Given the description of an element on the screen output the (x, y) to click on. 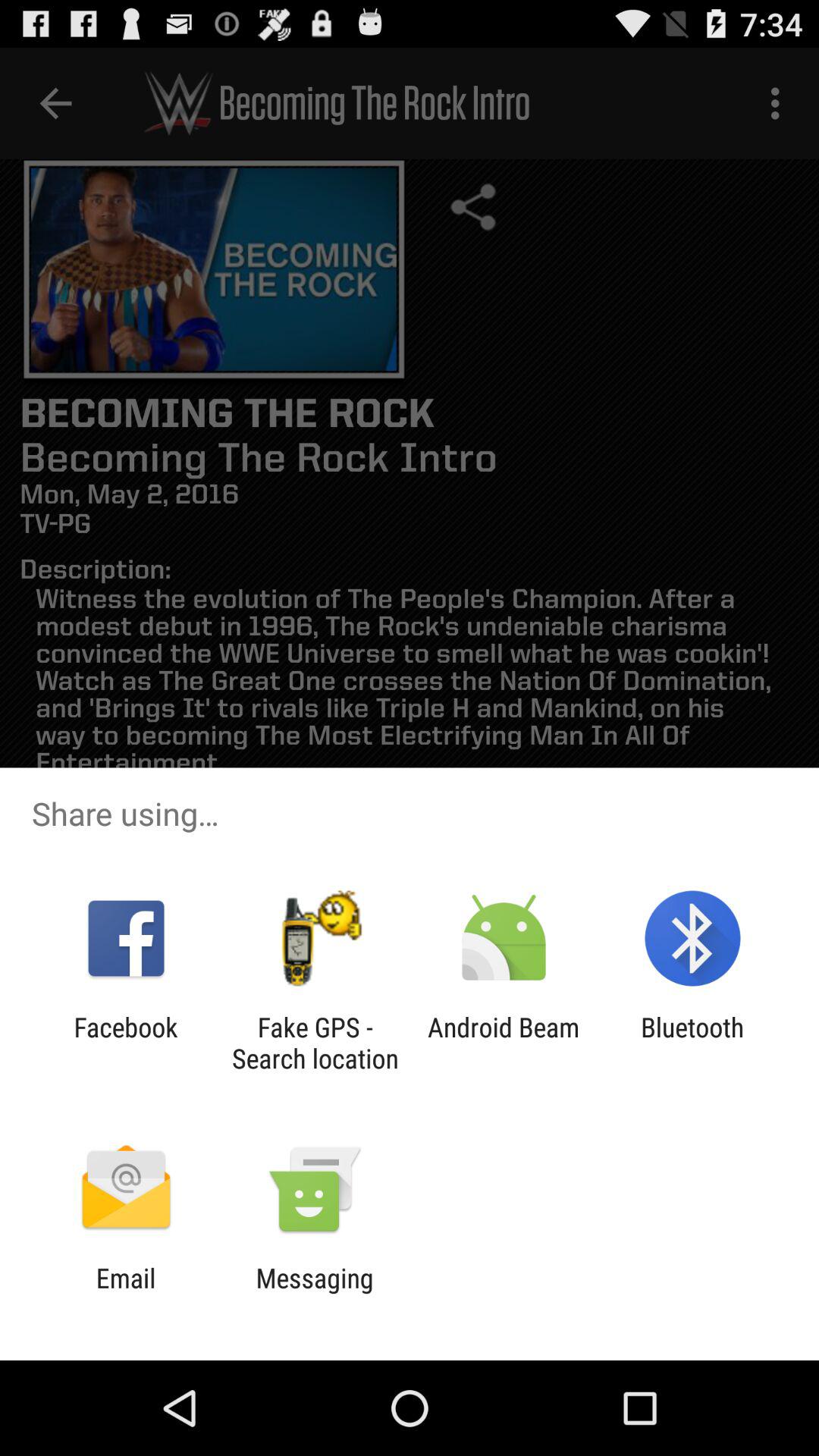
click the item next to the android beam item (691, 1042)
